Given the description of an element on the screen output the (x, y) to click on. 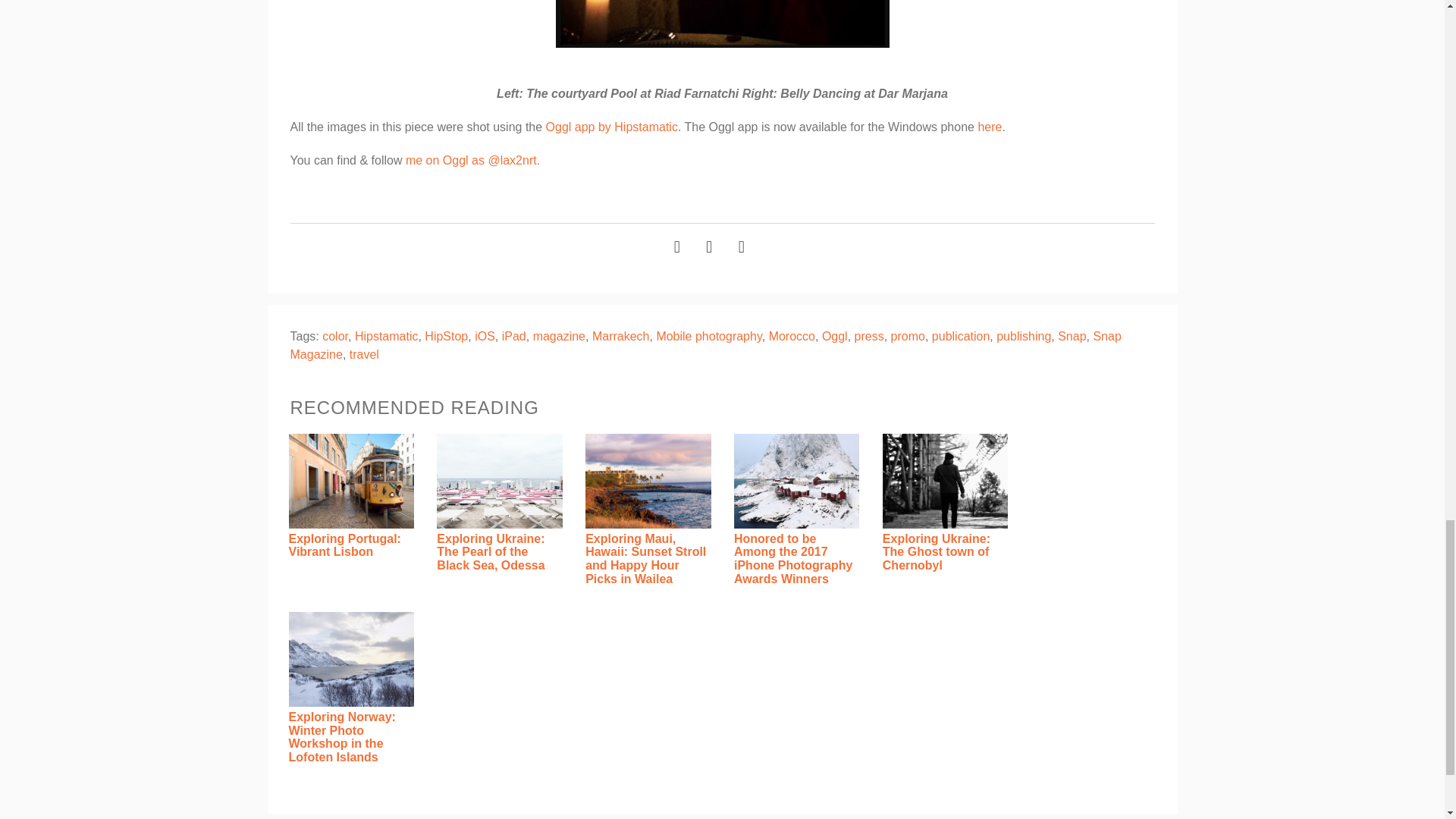
promo (907, 336)
iPad (513, 336)
iOS (484, 336)
publishing (1023, 336)
Mobile photography (708, 336)
Marrakech (620, 336)
press (868, 336)
Morocco (791, 336)
HipStop (446, 336)
publication (960, 336)
here (988, 126)
Oggl (834, 336)
Snap Magazine (705, 345)
Hipstamatic (387, 336)
Oggl app by Hipstamatic (612, 126)
